Given the description of an element on the screen output the (x, y) to click on. 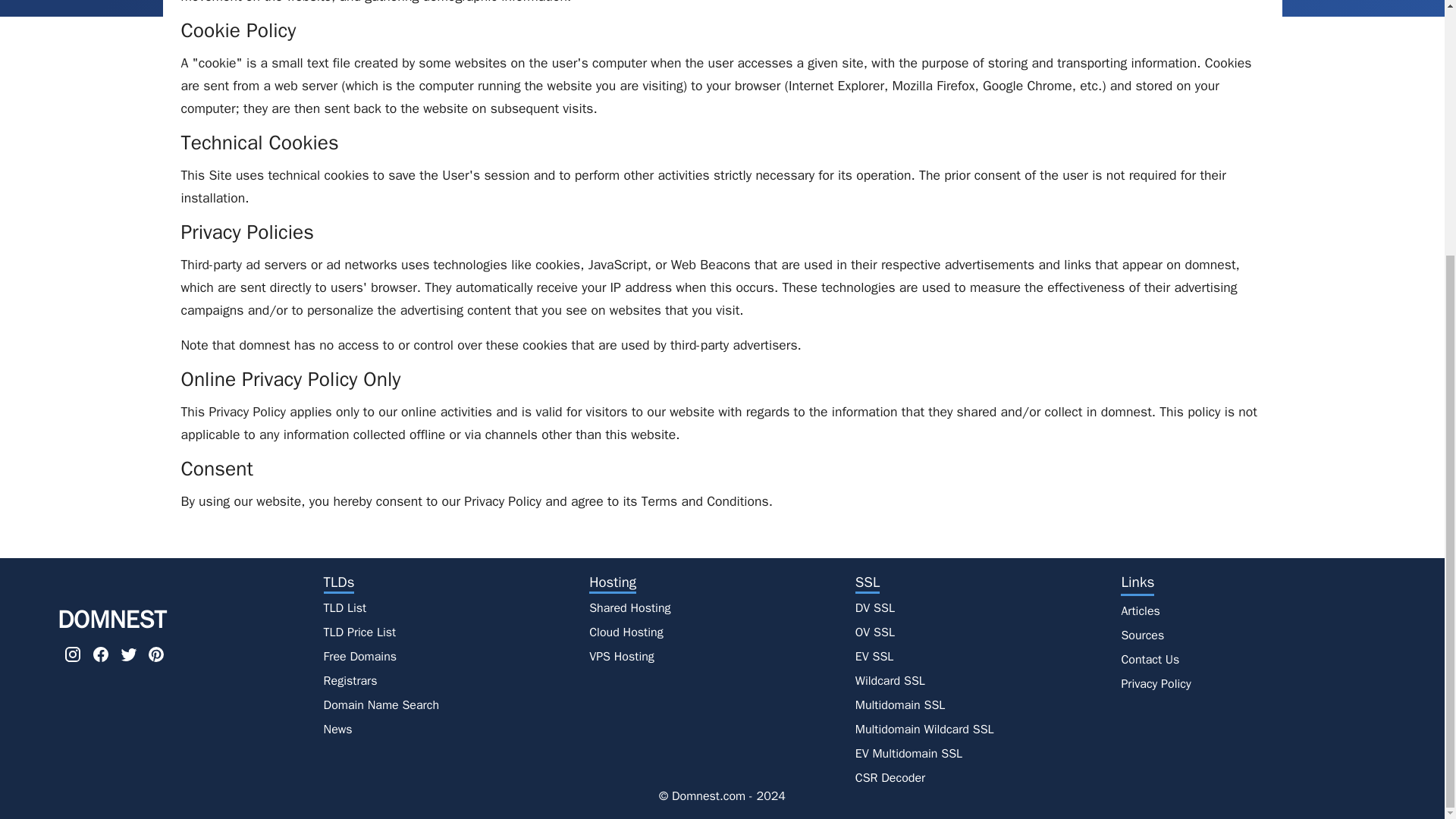
VPS Hosting (621, 653)
Shared Hosting (629, 604)
Domain Name Search (381, 702)
Cloud Hosting (625, 629)
Registrars (350, 677)
News (337, 726)
TLD Price List (359, 629)
Free Domains (360, 653)
TLD List (344, 604)
